Given the description of an element on the screen output the (x, y) to click on. 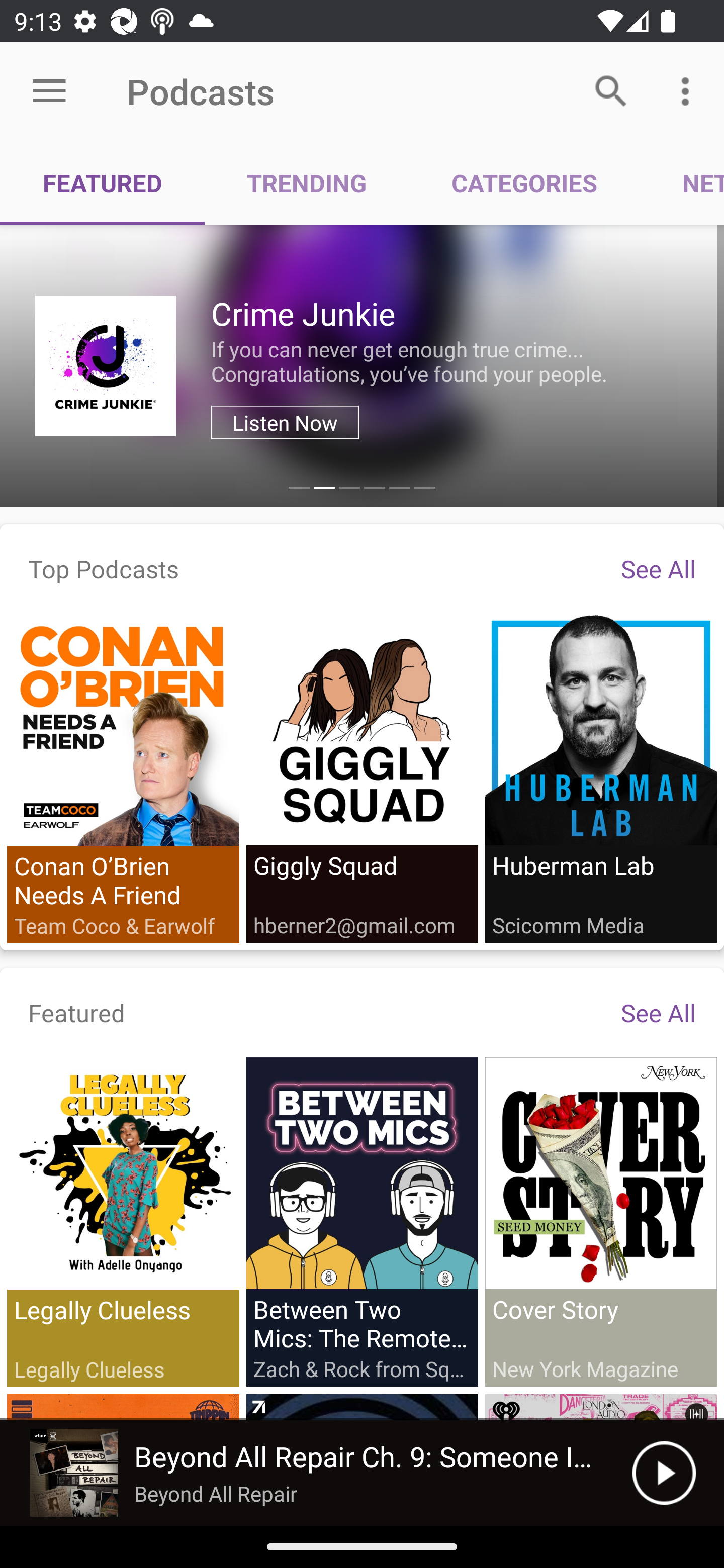
Open menu (49, 91)
Search (611, 90)
More options (688, 90)
FEATURED (102, 183)
TRENDING (306, 183)
CATEGORIES (524, 183)
Top Podcasts (103, 567)
See All (658, 567)
Conan O’Brien Needs A Friend Team Coco & Earwolf (123, 778)
Giggly Squad hberner2@gmail.com (361, 777)
Huberman Lab Scicomm Media (600, 777)
Featured (76, 1011)
See All (658, 1011)
Legally Clueless (123, 1221)
Cover Story New York Magazine (600, 1221)
Play (663, 1472)
